Given the description of an element on the screen output the (x, y) to click on. 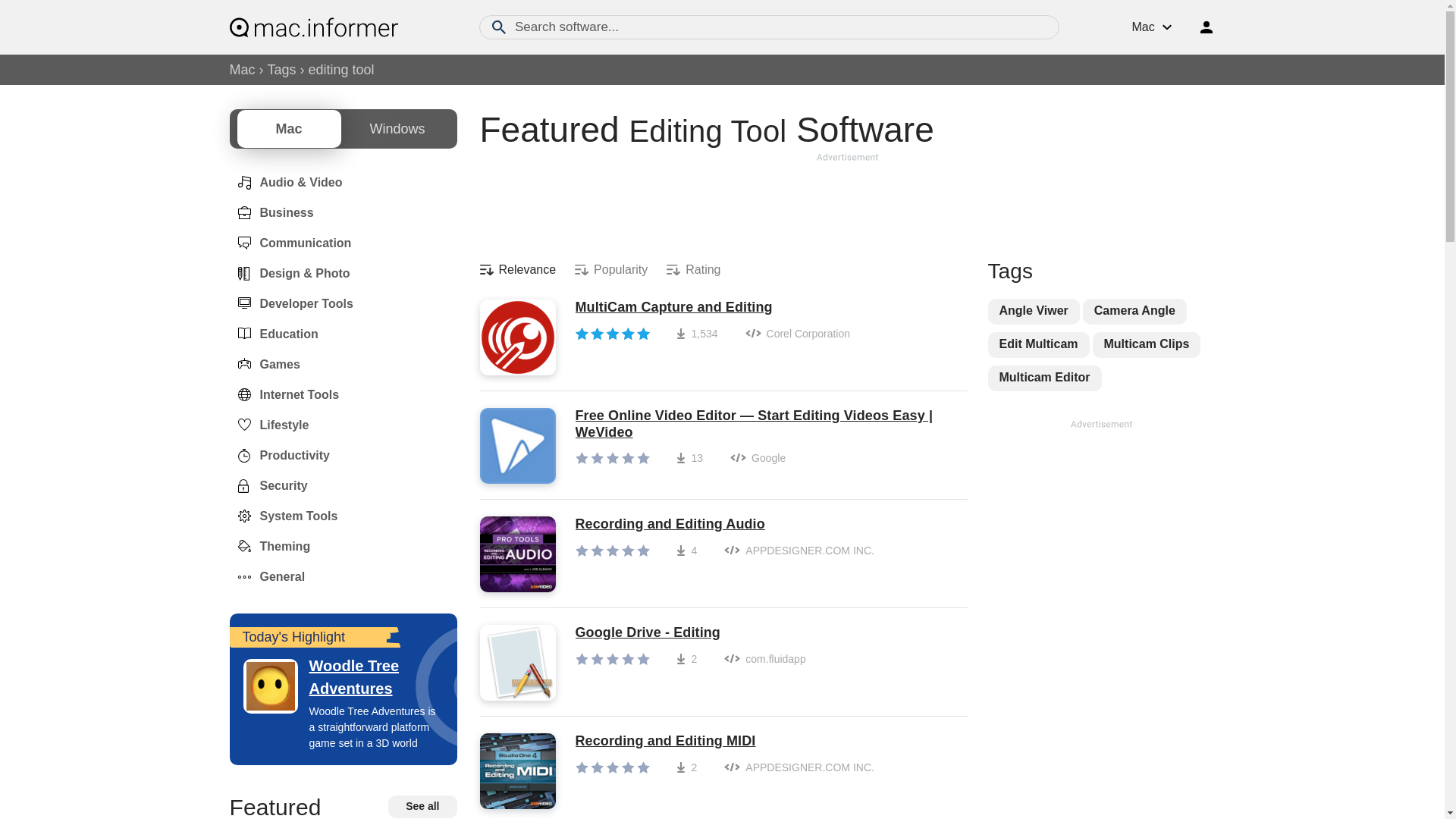
Rating (693, 269)
Recording and Editing MIDI (724, 741)
Popularity (611, 269)
Business (270, 213)
Mac (241, 69)
See all (422, 806)
Recording and Editing MIDI (724, 741)
Communication (289, 243)
Developer Tools (290, 304)
Relevance (517, 269)
System Tools (282, 516)
Windows (396, 128)
Education (272, 334)
Woodle Tree Adventures (342, 677)
